Given the description of an element on the screen output the (x, y) to click on. 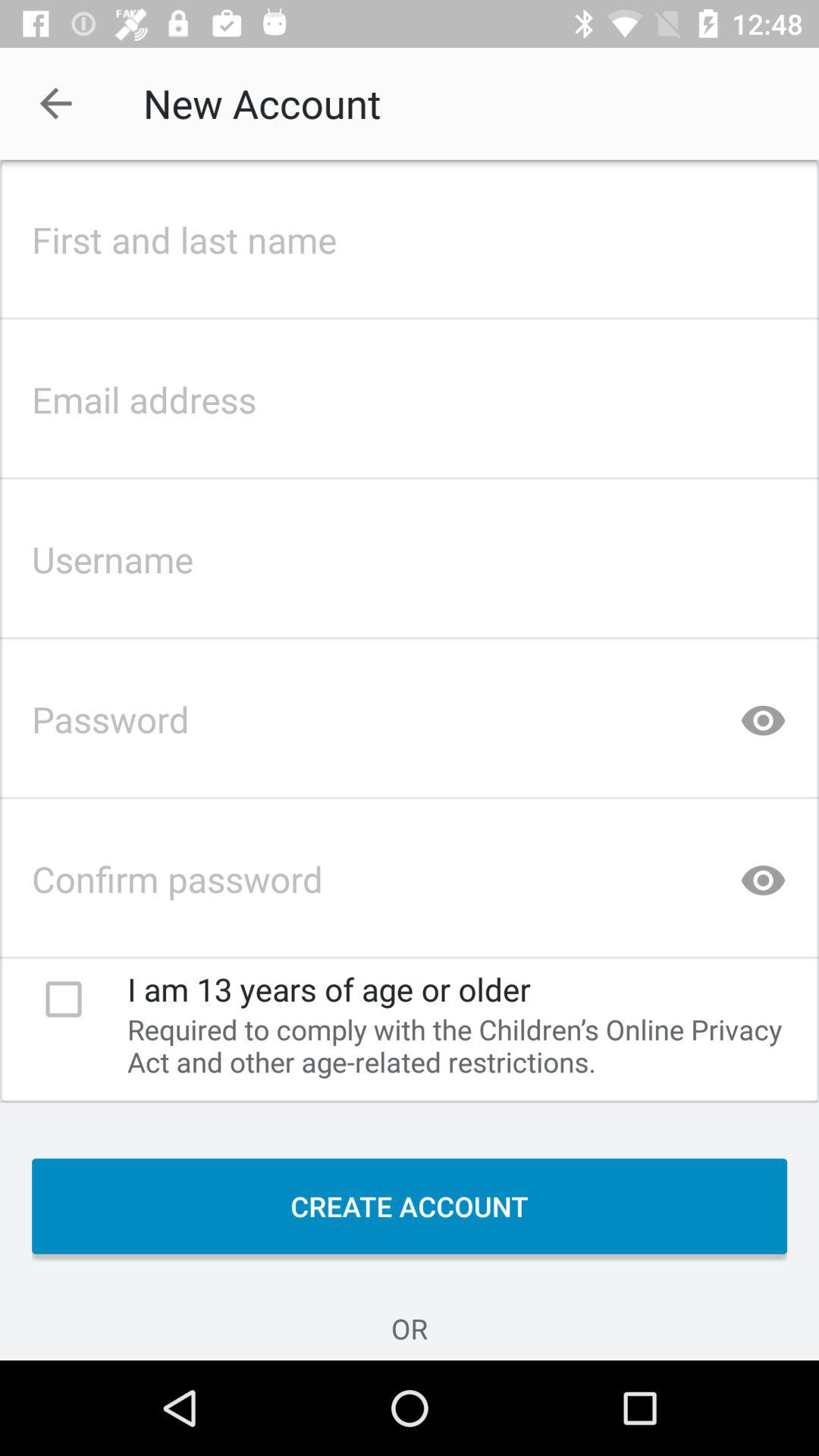
jump to create account (409, 1206)
